Given the description of an element on the screen output the (x, y) to click on. 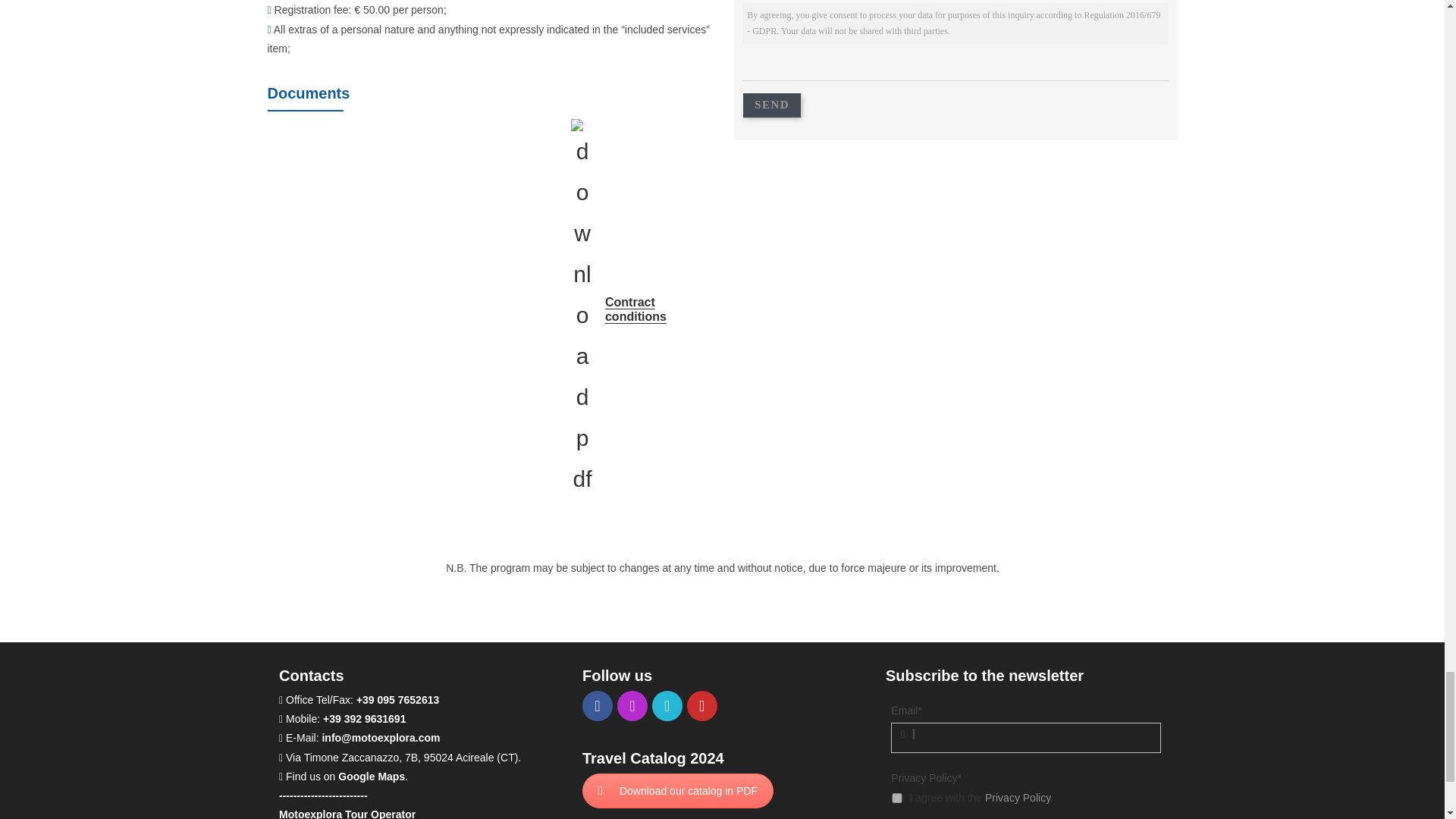
1 (896, 798)
Google Maps (370, 776)
Send (772, 104)
Download our catalog in PDF (677, 790)
Send (772, 104)
Privacy Policy (1017, 797)
